Given the description of an element on the screen output the (x, y) to click on. 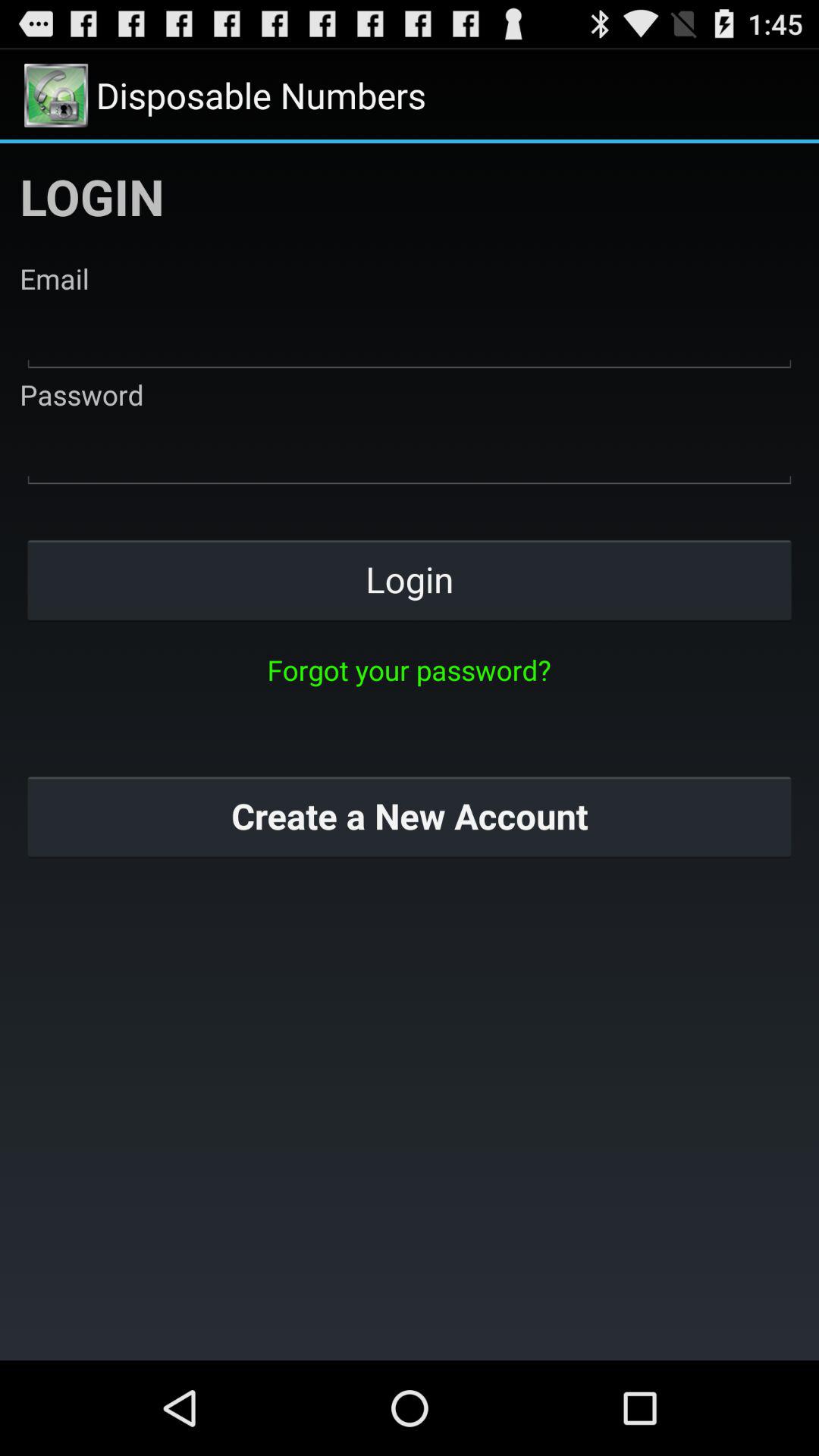
enter email (409, 336)
